Given the description of an element on the screen output the (x, y) to click on. 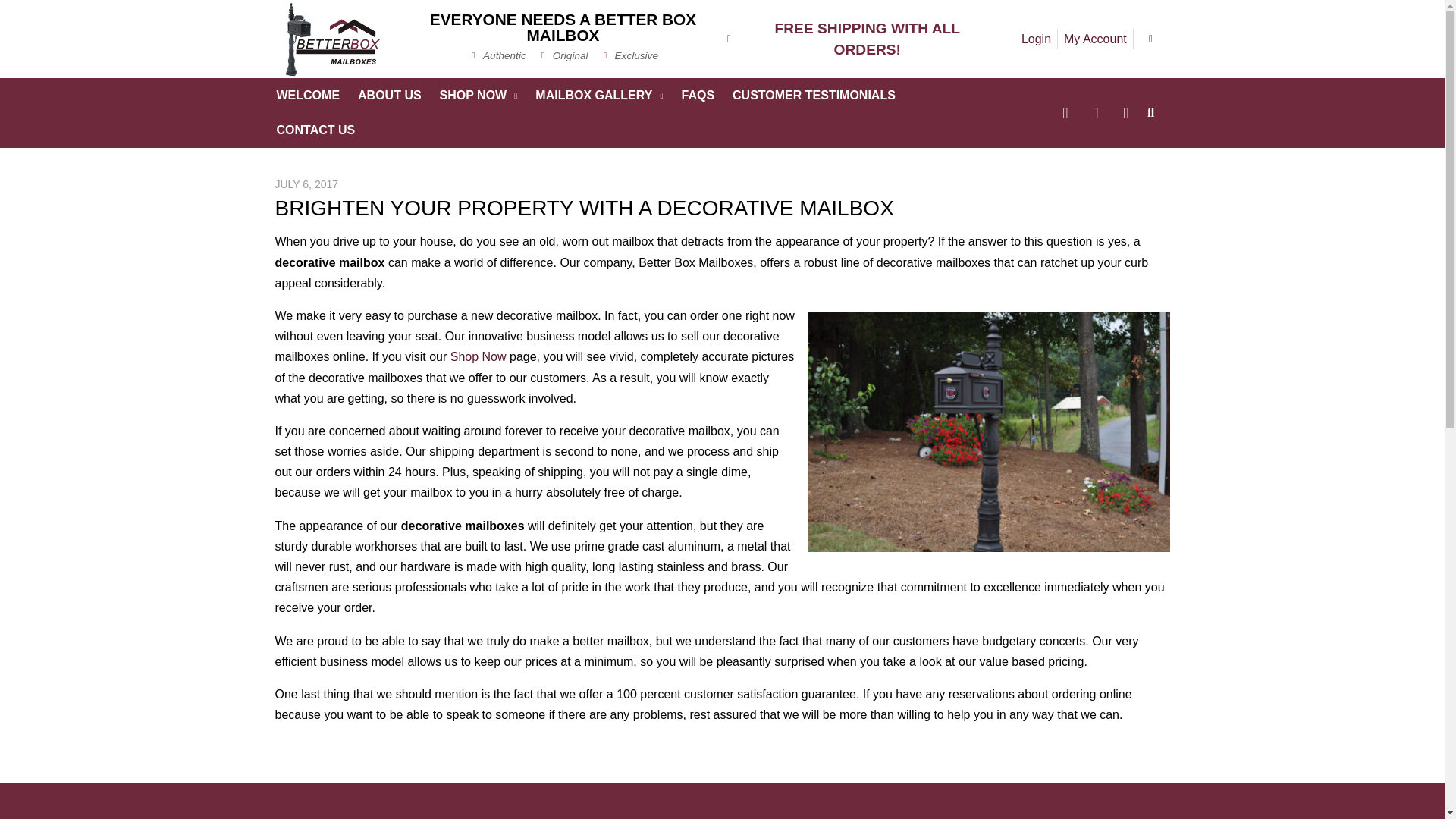
Login (1036, 38)
MAILBOX GALLERY (598, 95)
CUSTOMER TESTIMONIALS (813, 95)
ABOUT US (389, 95)
SHOP NOW (478, 95)
My Account (1095, 38)
FAQS (697, 95)
CONTACT US (315, 130)
WELCOME (307, 95)
